Given the description of an element on the screen output the (x, y) to click on. 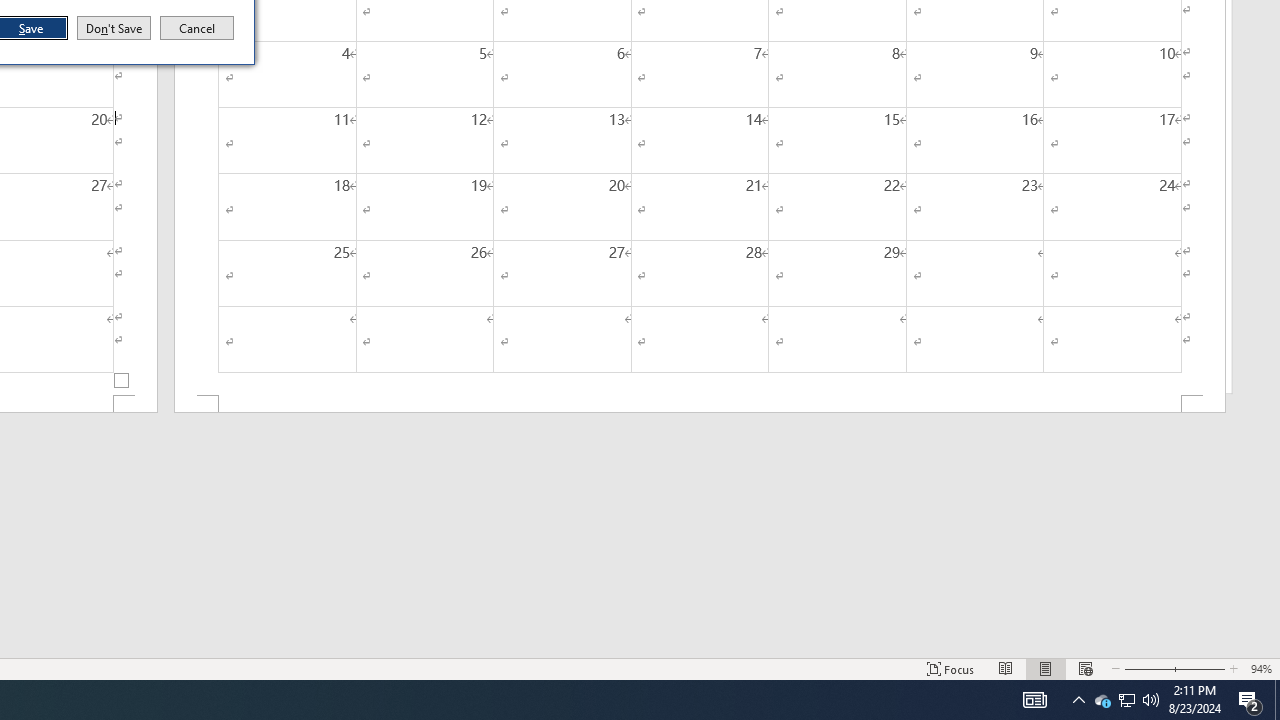
Action Center, 2 new notifications (1250, 699)
Footer -Section 2- (700, 404)
User Promoted Notification Area (1126, 699)
